Given the description of an element on the screen output the (x, y) to click on. 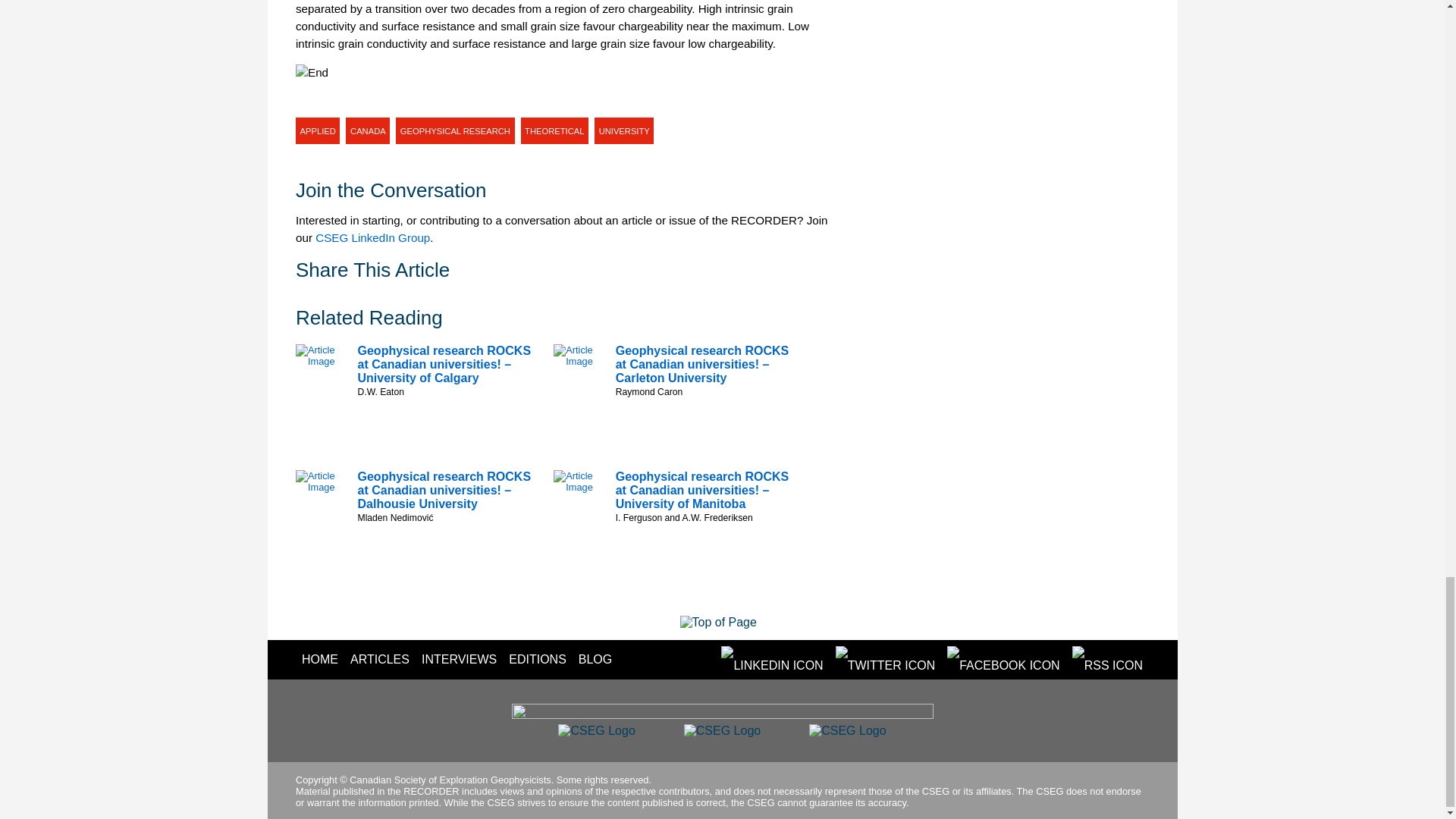
CSEG LinkedIn Group (372, 237)
UNIVERSITY (623, 130)
CANADA (368, 130)
GEOPHYSICAL RESEARCH (454, 130)
THEORETICAL (555, 130)
APPLIED (317, 130)
